Given the description of an element on the screen output the (x, y) to click on. 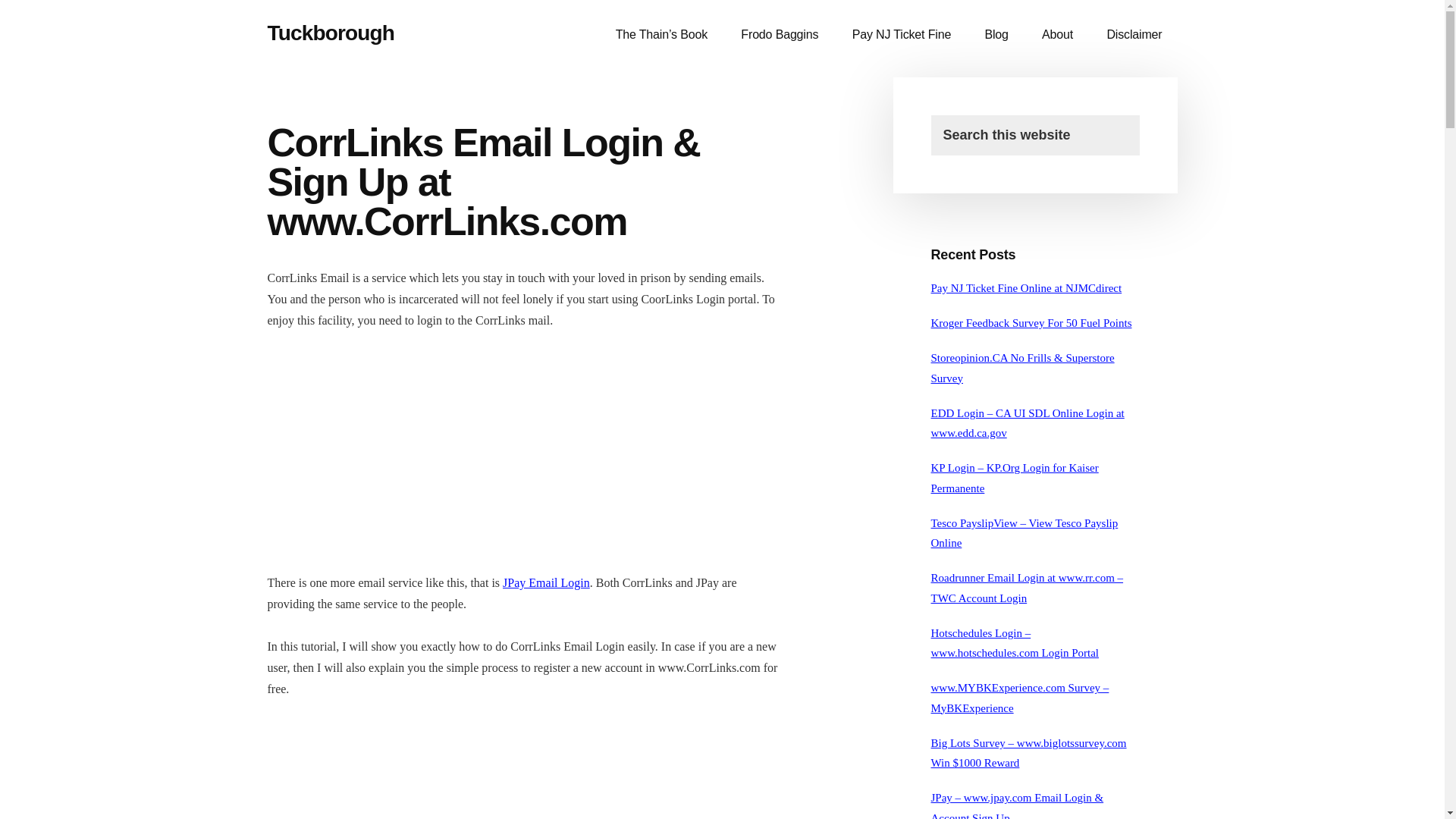
Advertisement (524, 770)
Blog (996, 34)
Advertisement (524, 458)
Tuckborough (330, 33)
Kroger Feedback Survey For 50 Fuel Points (1031, 322)
About (1056, 34)
Pay NJ Ticket Fine (901, 34)
Pay NJ Ticket Fine Online at NJMCdirect (1026, 287)
